Given the description of an element on the screen output the (x, y) to click on. 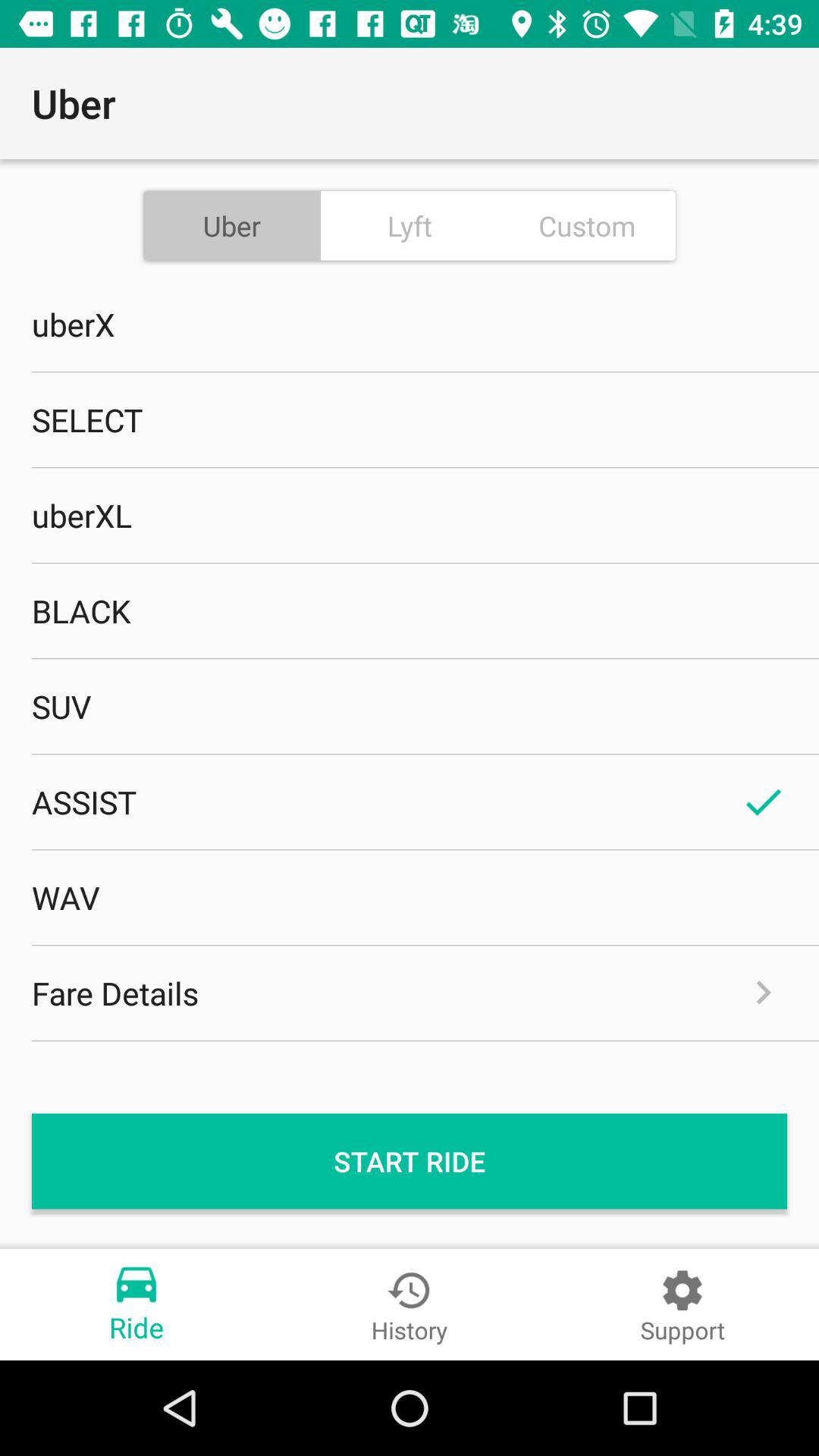
tap the item below the wav (409, 992)
